Given the description of an element on the screen output the (x, y) to click on. 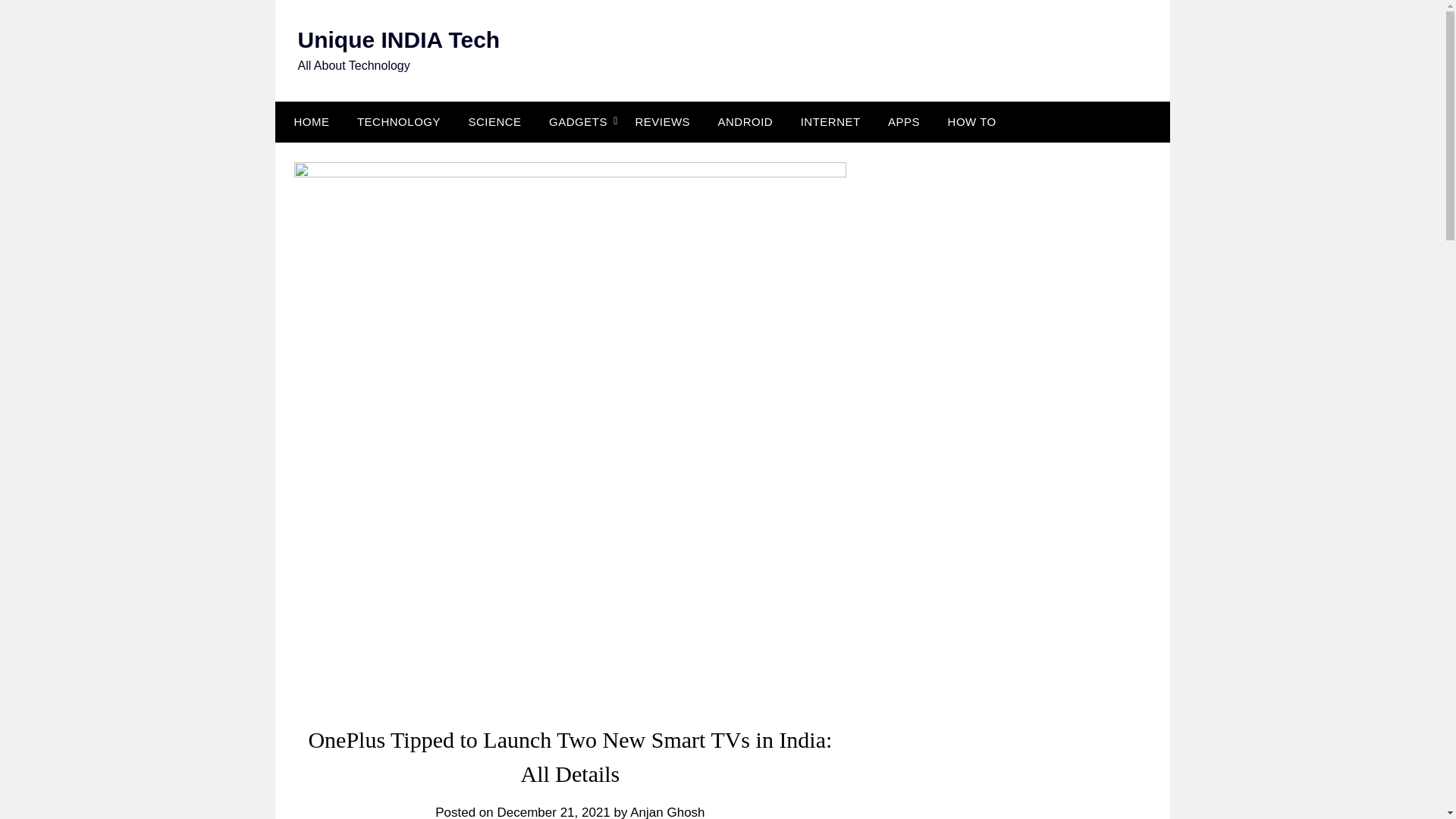
GADGETS (578, 121)
TECHNOLOGY (398, 121)
REVIEWS (662, 121)
Anjan Ghosh (667, 812)
APPS (903, 121)
INTERNET (830, 121)
Unique INDIA Tech (398, 39)
HOME (307, 121)
December 21, 2021 (553, 812)
ANDROID (746, 121)
HOW TO (972, 121)
SCIENCE (493, 121)
